Given the description of an element on the screen output the (x, y) to click on. 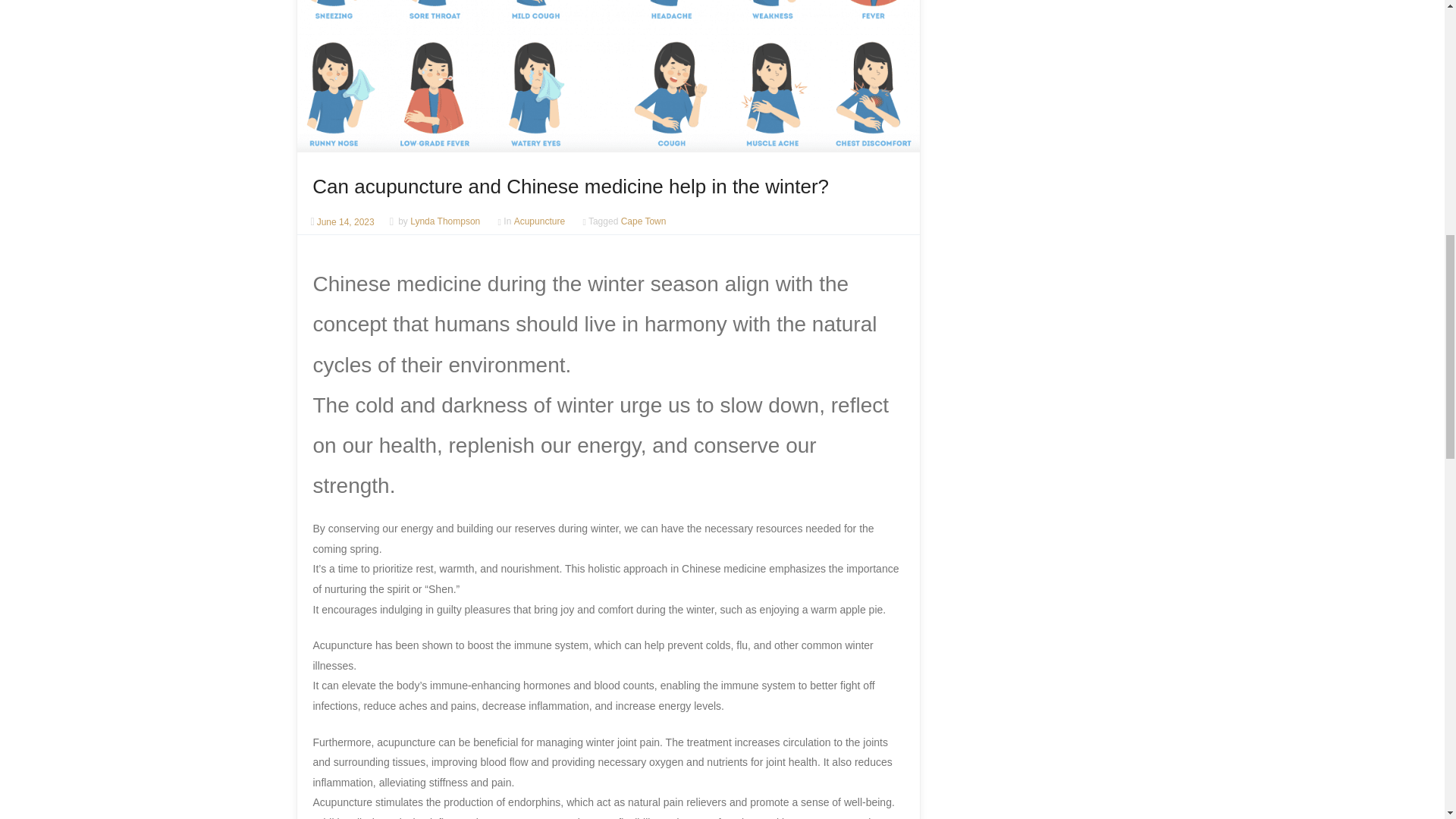
11:40 am (348, 222)
Acupuncture (538, 222)
Cape Town (643, 222)
June 14, 2023 (348, 222)
View all posts by Lynda Thompson (445, 222)
Lynda Thompson (445, 222)
Can acupuncture and Chinese medicine help in the winter? (570, 186)
